Given the description of an element on the screen output the (x, y) to click on. 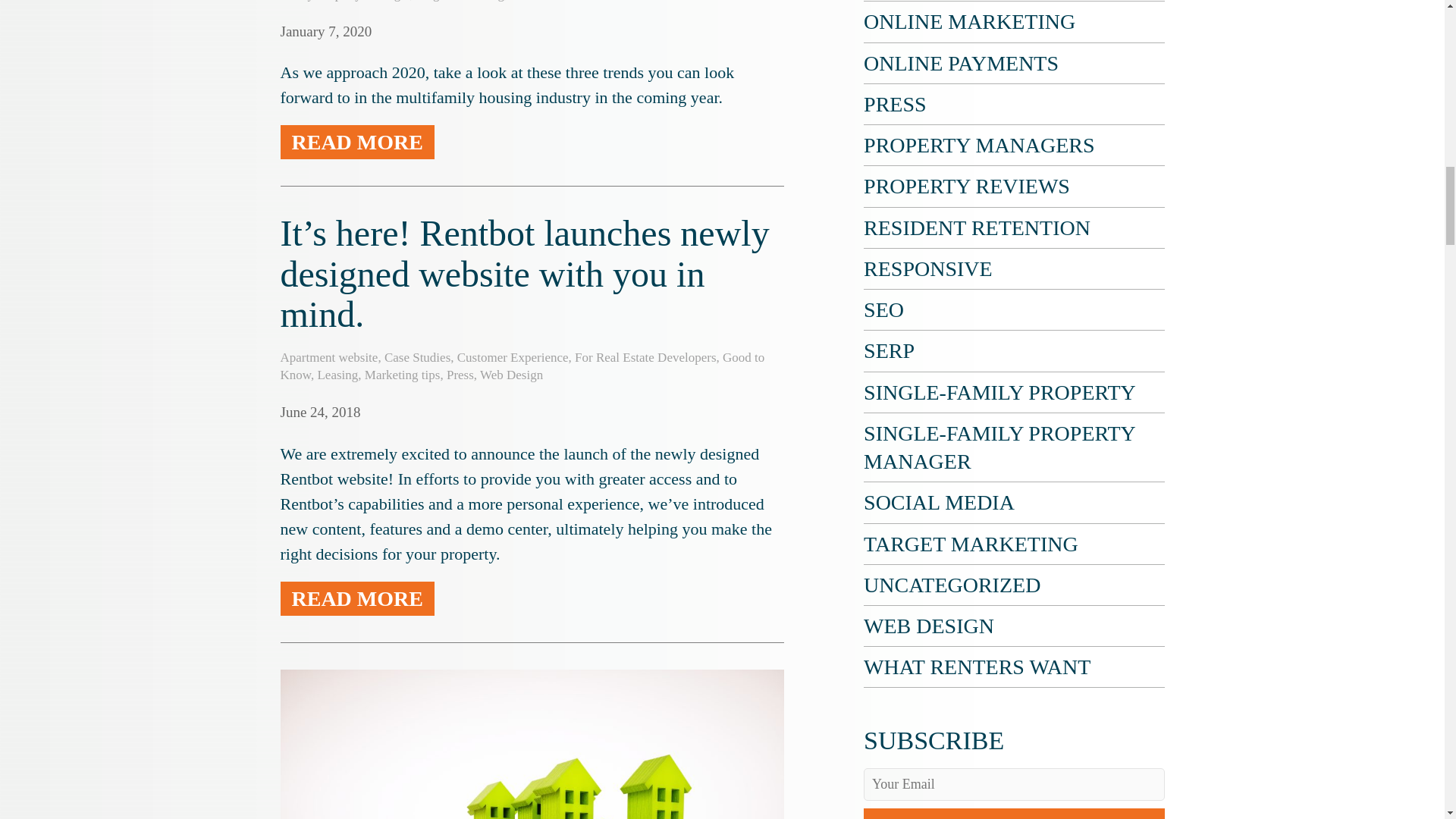
January 7, 2020 (326, 31)
Submit (1013, 813)
Permalink to Top 2020 multifamily industry trends (326, 31)
